Given the description of an element on the screen output the (x, y) to click on. 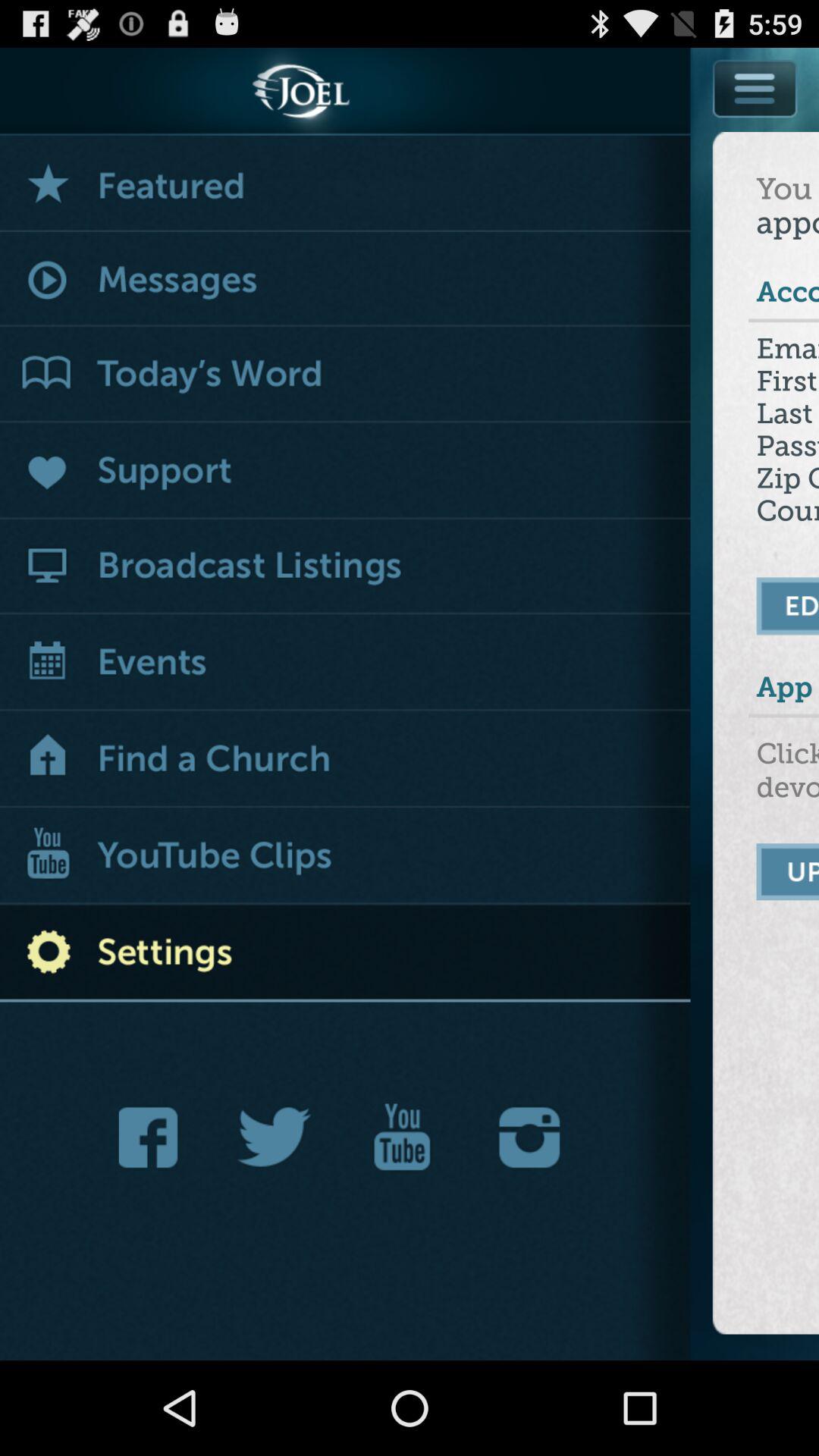
go to support (345, 471)
